Given the description of an element on the screen output the (x, y) to click on. 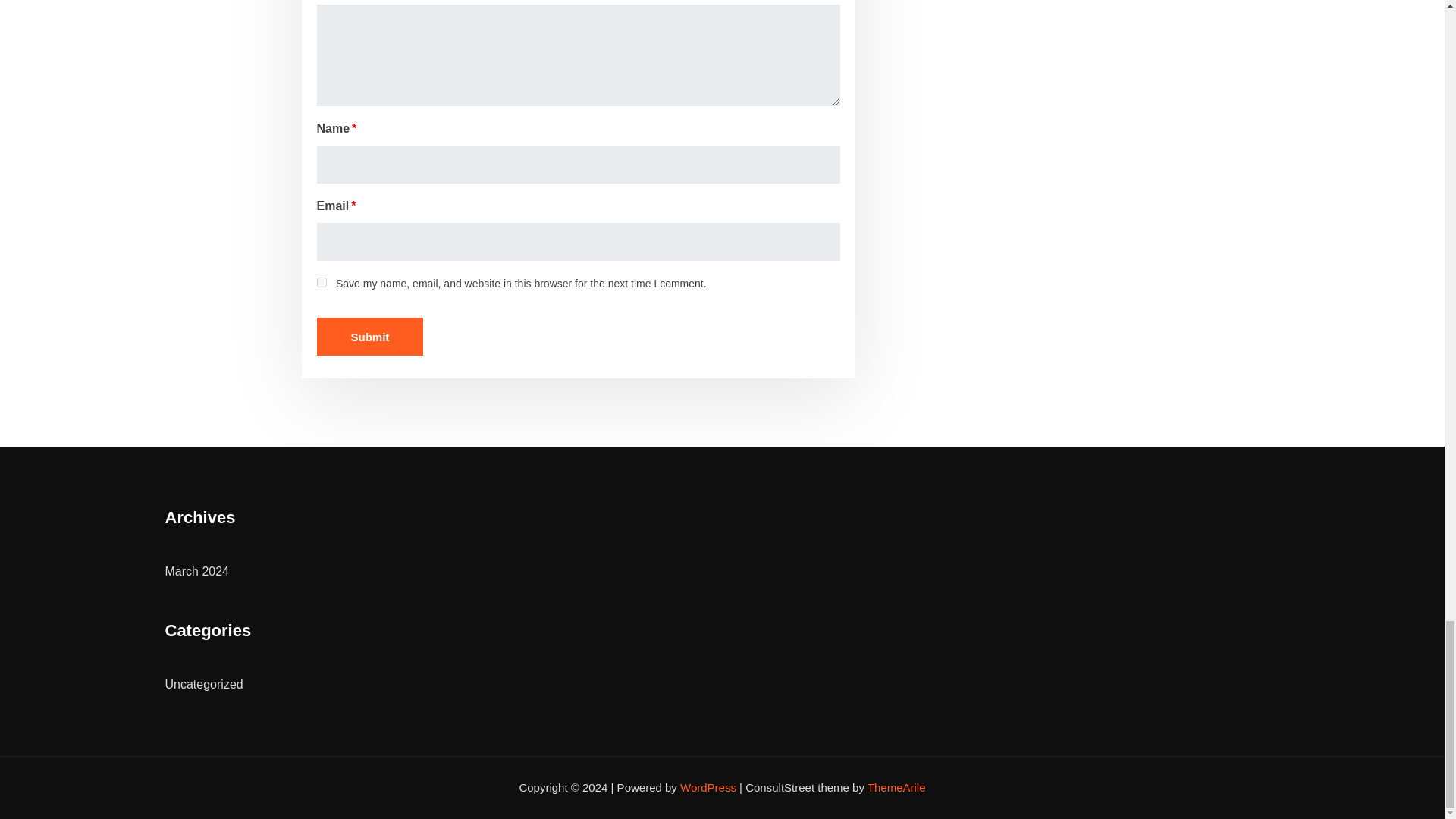
WordPress (707, 787)
Uncategorized (204, 684)
yes (321, 282)
March 2024 (197, 571)
Submit (370, 336)
ThemeArile (896, 787)
Submit (370, 336)
